Given the description of an element on the screen output the (x, y) to click on. 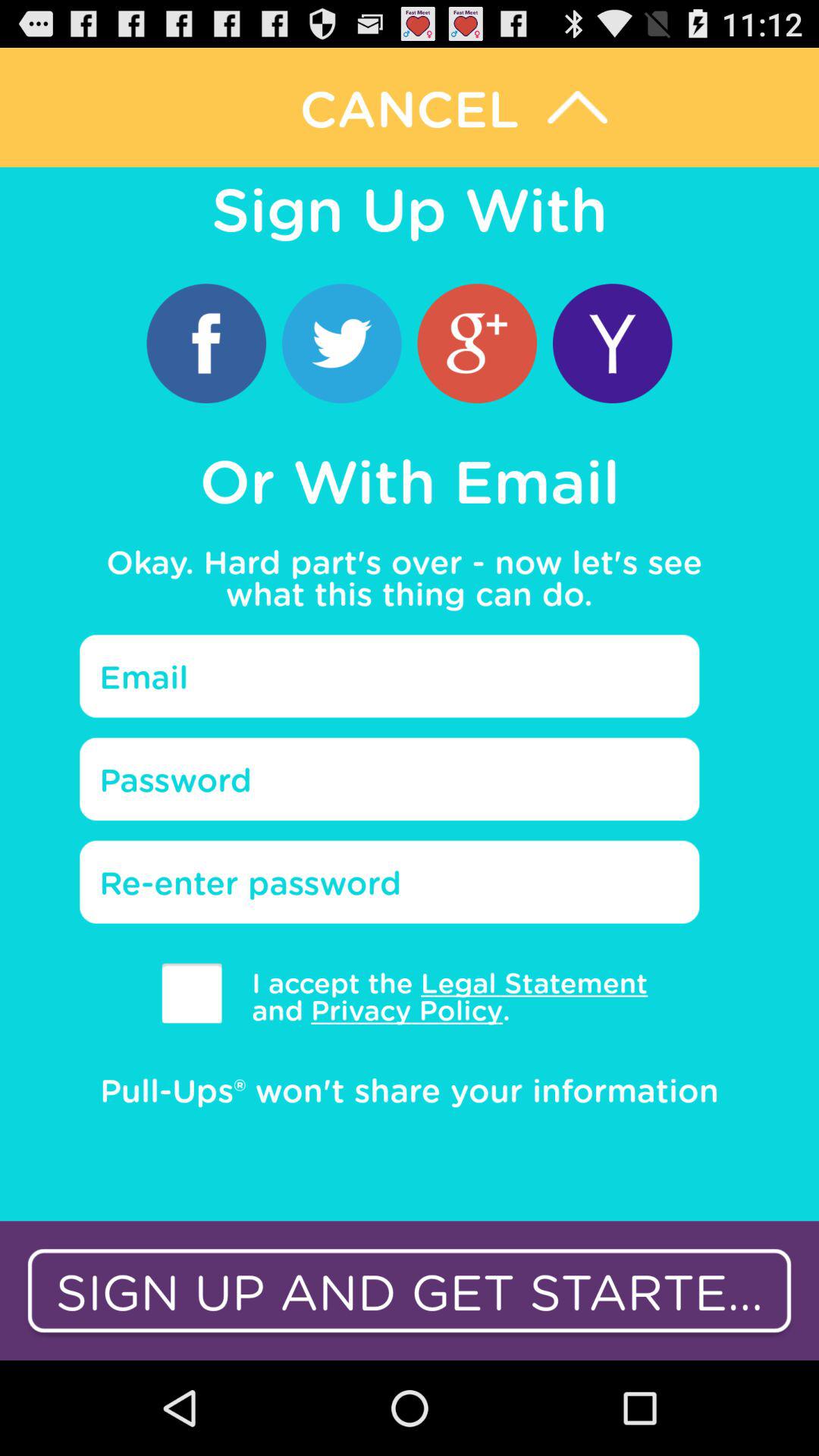
open item below the sign up with item (476, 343)
